Given the description of an element on the screen output the (x, y) to click on. 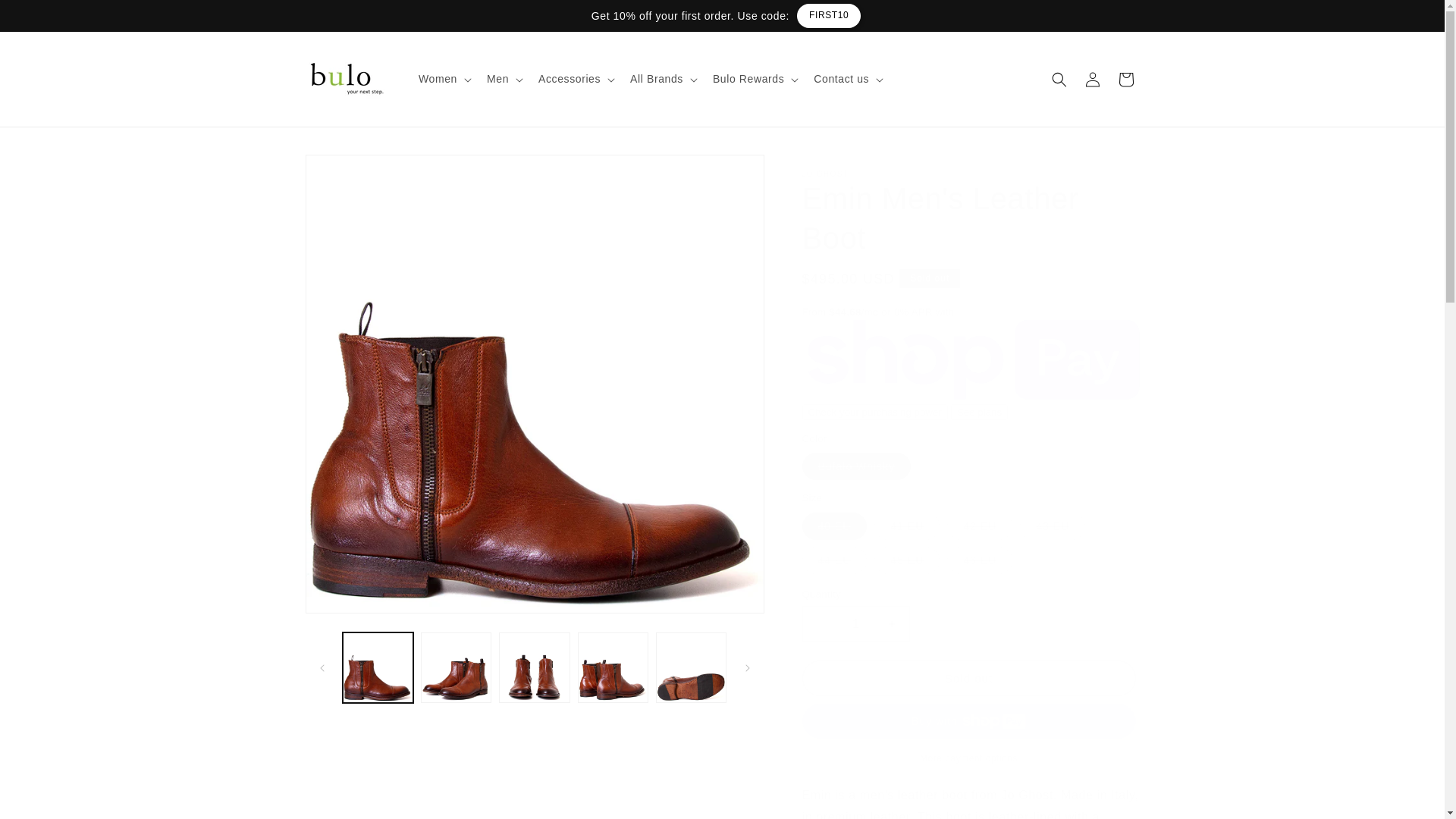
Skip to content (45, 17)
FIRST10 (808, 15)
1 (856, 623)
